Given the description of an element on the screen output the (x, y) to click on. 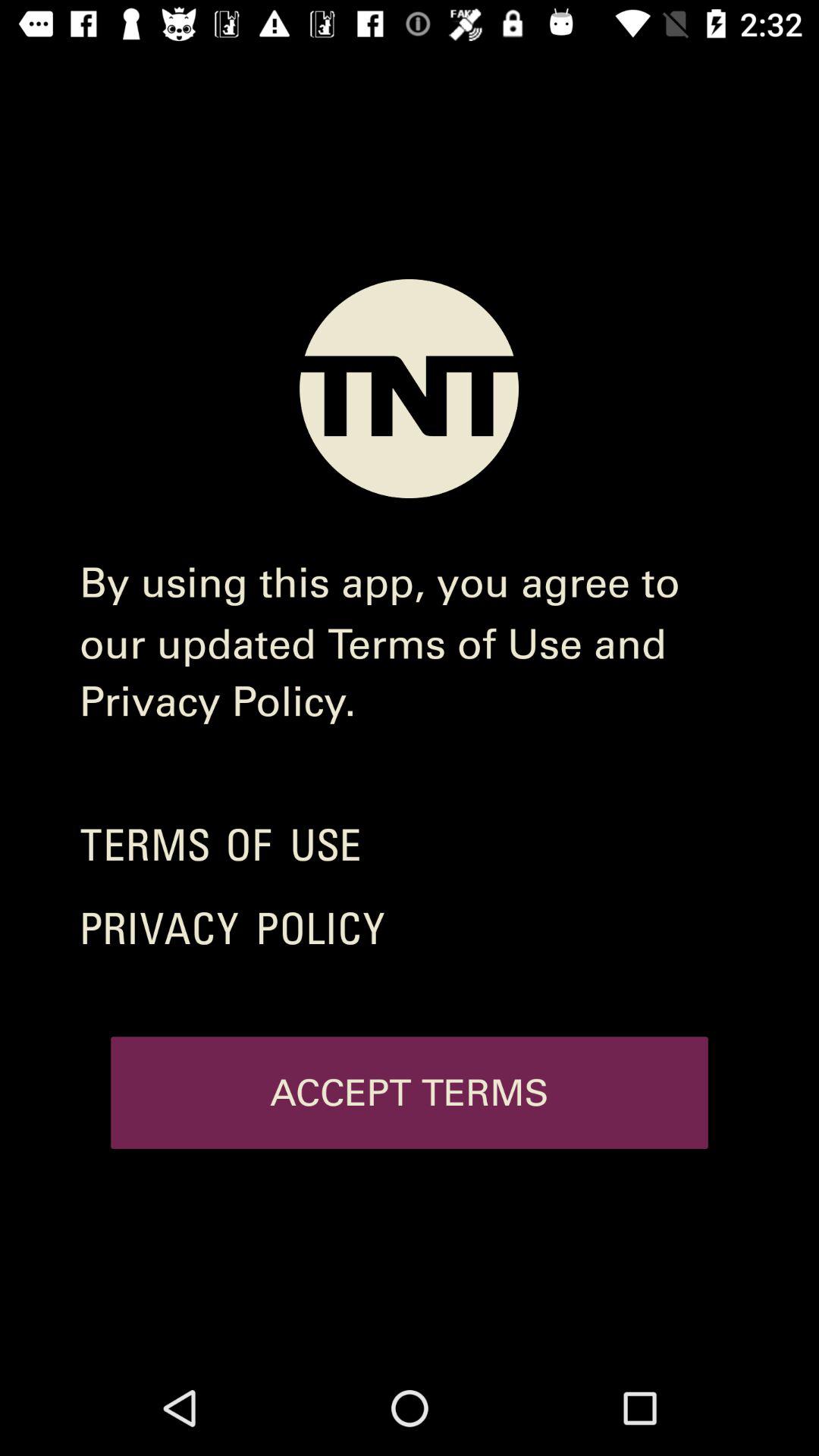
choose the icon below privacy policy icon (409, 1092)
